Given the description of an element on the screen output the (x, y) to click on. 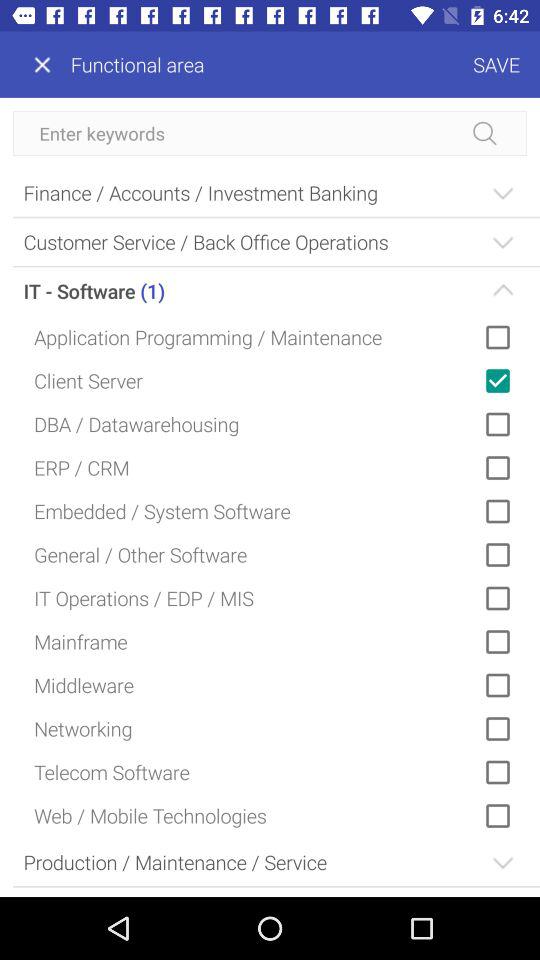
search any one (269, 133)
